Given the description of an element on the screen output the (x, y) to click on. 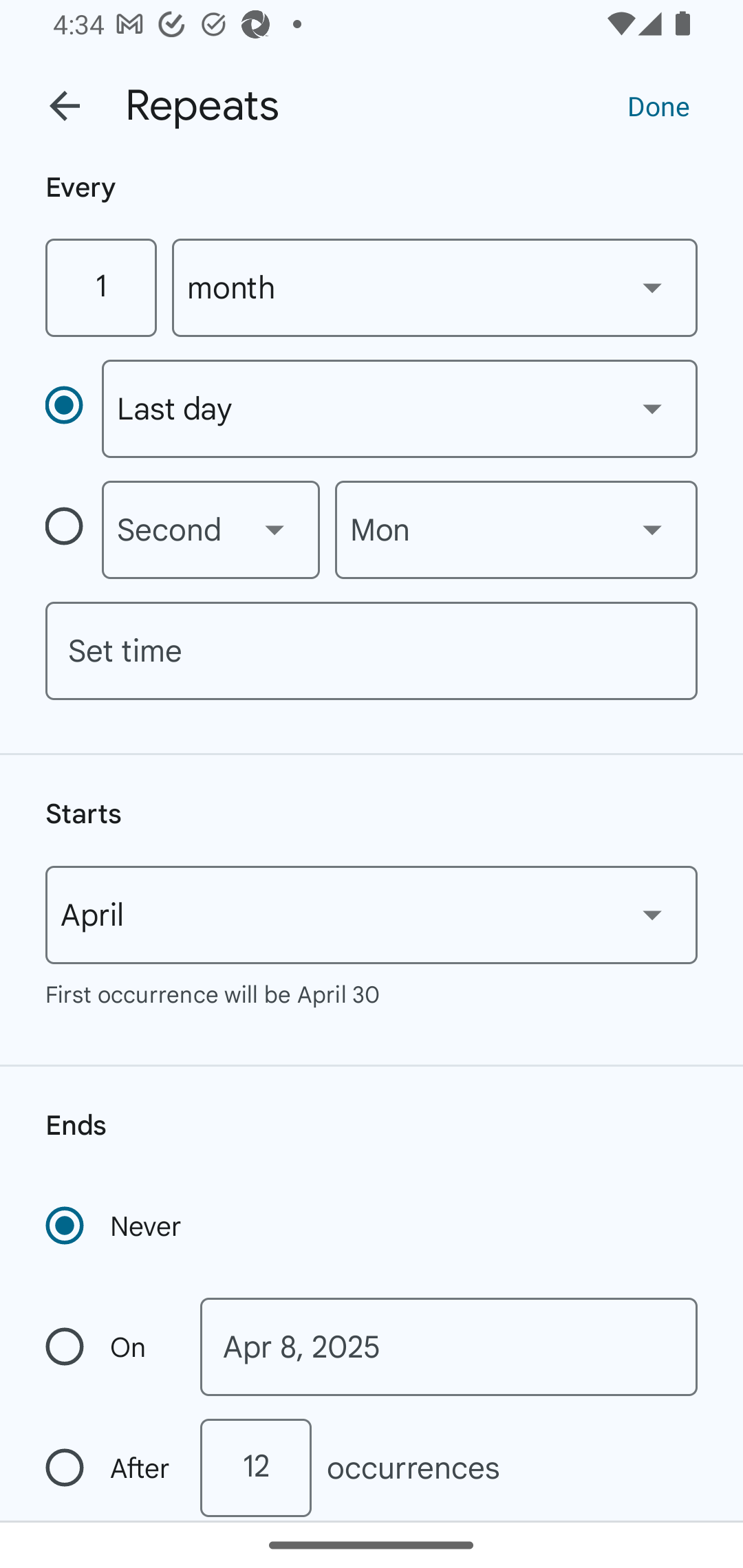
Back (64, 105)
Done (658, 105)
1 (100, 287)
month (434, 287)
Show dropdown menu (652, 286)
Last day (399, 408)
Show dropdown menu (652, 408)
Repeat monthly on a specific day of the month (73, 408)
Second (210, 529)
Mon (516, 529)
Show dropdown menu (274, 529)
Show dropdown menu (652, 529)
Repeat monthly on a specific weekday (73, 529)
Set time (371, 650)
April (371, 914)
Show dropdown menu (652, 913)
Never Recurrence never ends (115, 1225)
Apr 8, 2025 (448, 1346)
On Recurrence ends on a specific date (109, 1346)
12 (255, 1468)
